Given the description of an element on the screen output the (x, y) to click on. 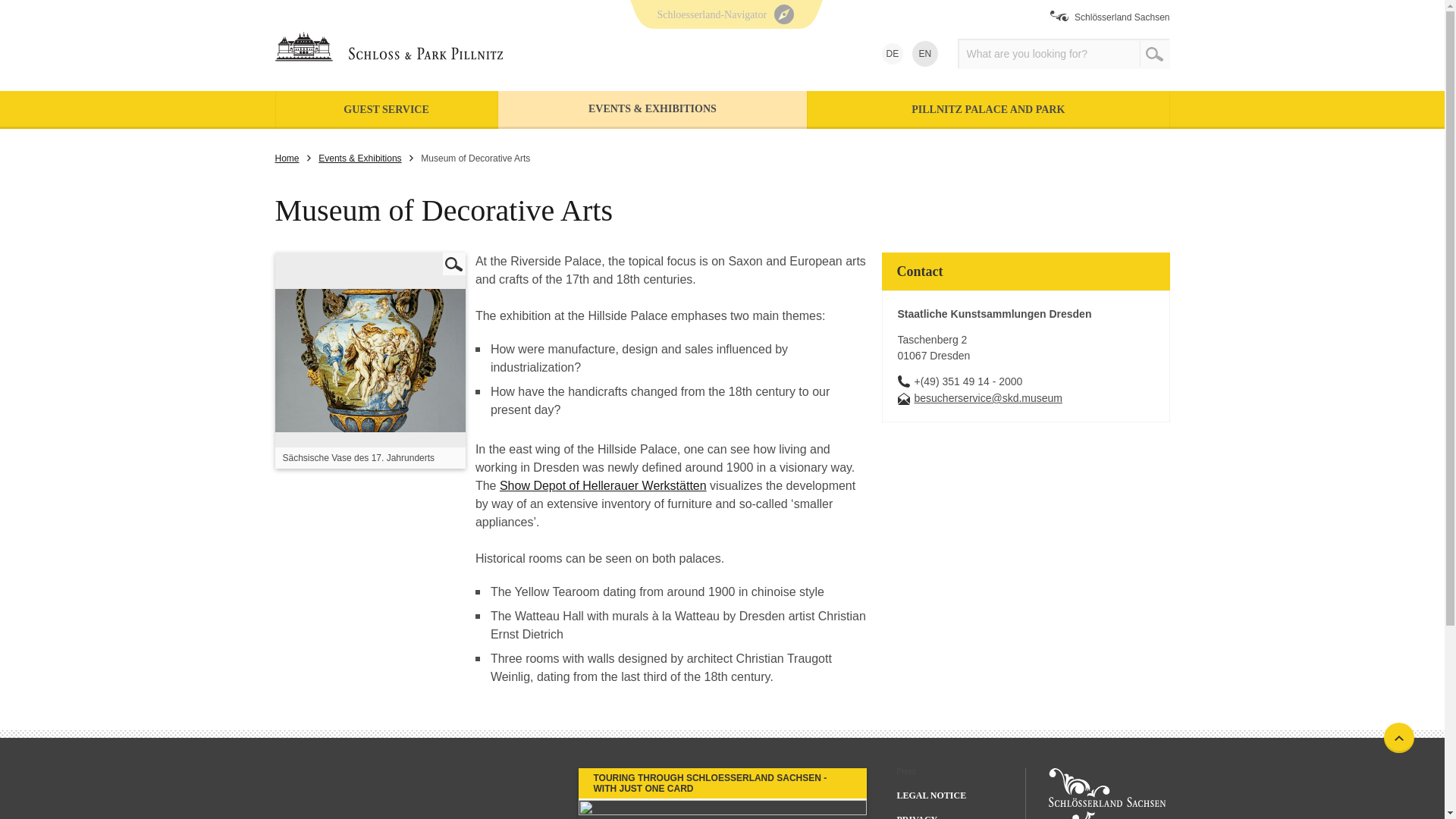
GUEST SERVICE (386, 109)
DE (892, 53)
PILLNITZ PALACE AND PARK (988, 109)
Schloesserland-Navigator (725, 2)
Homepage (413, 44)
